Given the description of an element on the screen output the (x, y) to click on. 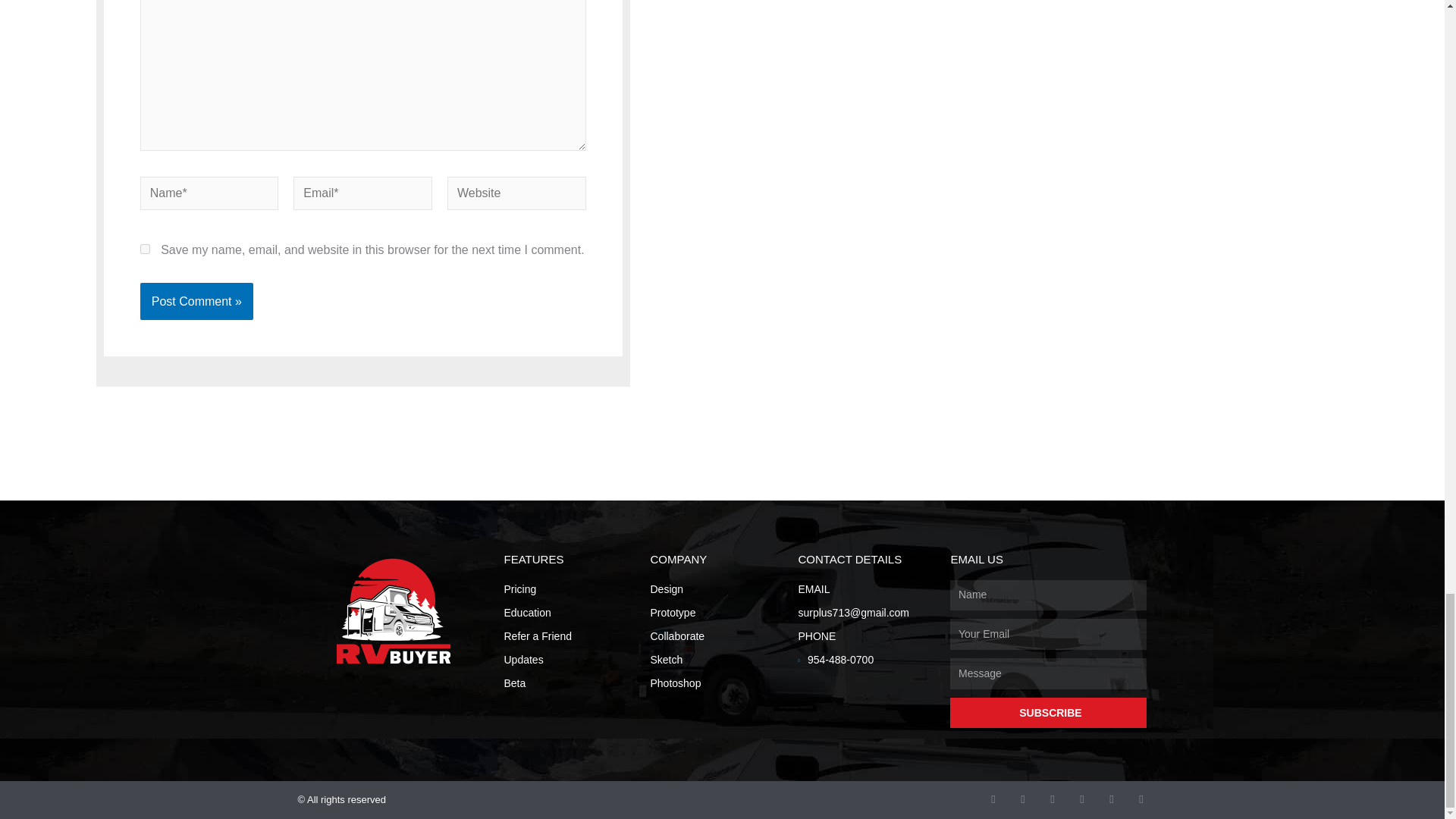
yes (144, 248)
SUBSCRIBE (1048, 712)
